Given the description of an element on the screen output the (x, y) to click on. 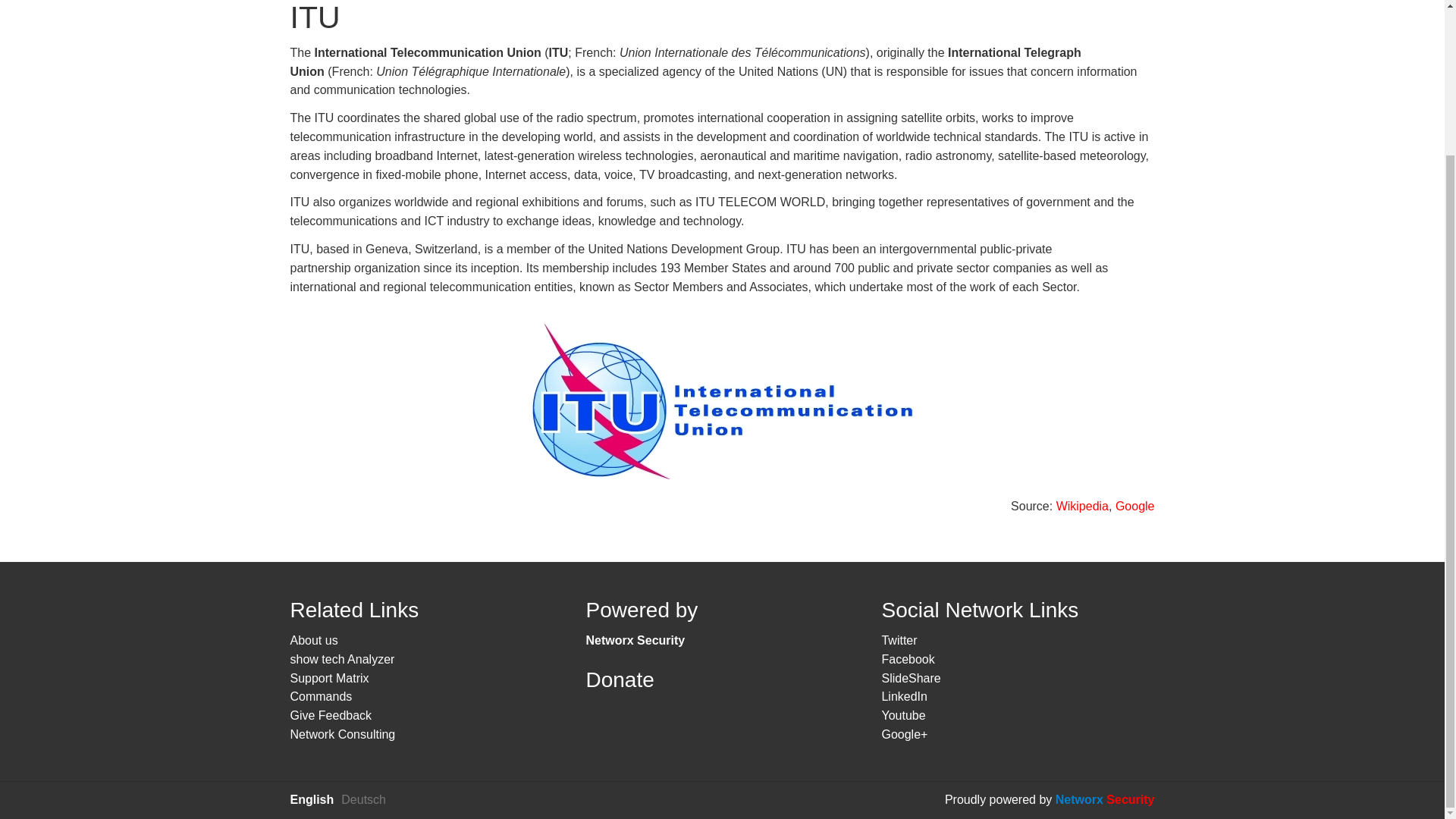
Google (1134, 505)
SlideShare (910, 677)
LinkedIn (903, 696)
Network Consulting (341, 734)
show tech Analyzer (341, 658)
Give Feedback (330, 715)
Link to Slideshare (910, 677)
Wikipedia (1082, 505)
Donate (619, 679)
About us (313, 640)
Support Matrix (328, 677)
Commands (320, 696)
Youtube (902, 715)
Twitter (898, 640)
Facebook (907, 658)
